Given the description of an element on the screen output the (x, y) to click on. 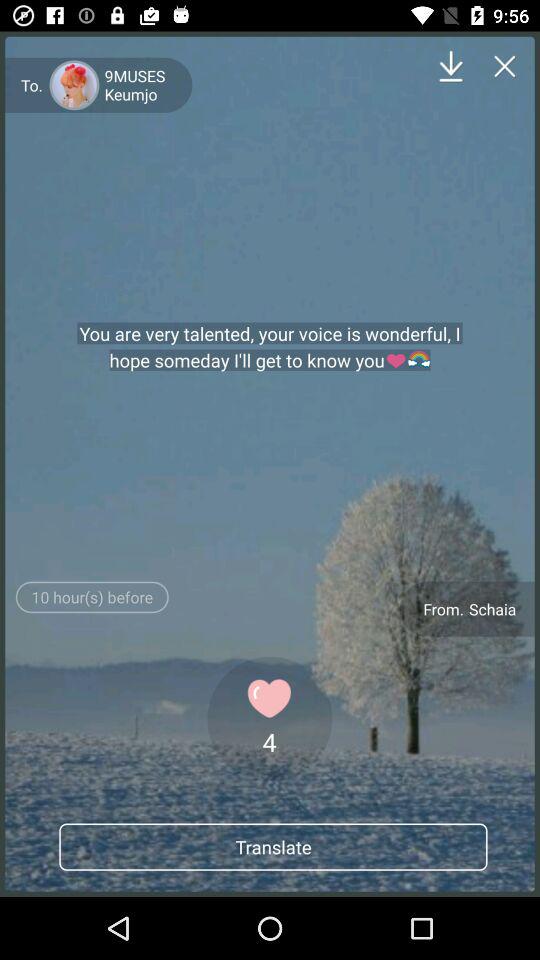
tap icon above the schaia icon (504, 65)
